Given the description of an element on the screen output the (x, y) to click on. 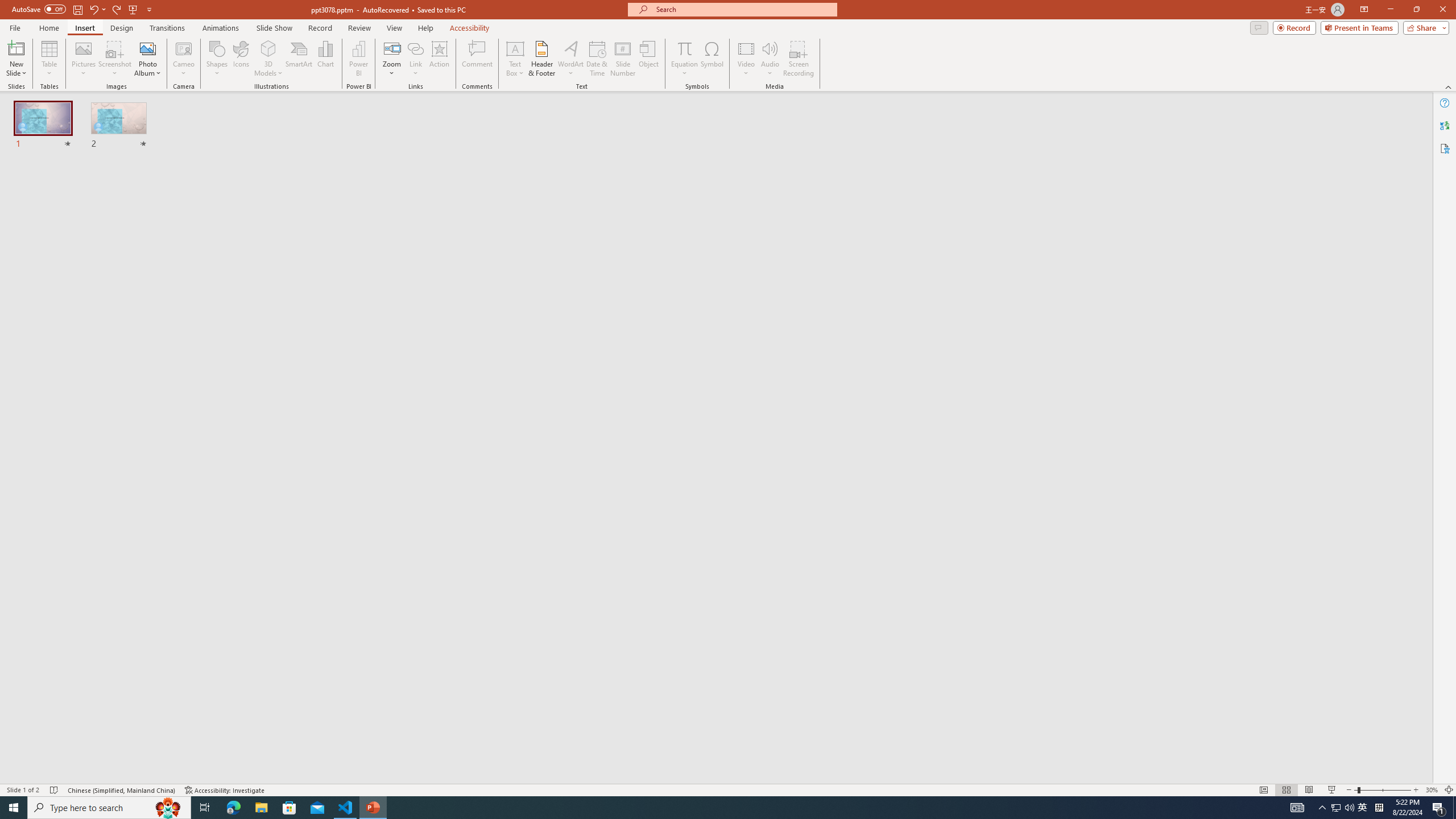
Pictures (83, 58)
Chart... (325, 58)
Slide Number (622, 58)
Date & Time... (596, 58)
Cameo (183, 58)
Transitions (167, 28)
Object... (649, 58)
Spell Check No Errors (54, 790)
Accessibility Checker Accessibility: Investigate (224, 790)
